Given the description of an element on the screen output the (x, y) to click on. 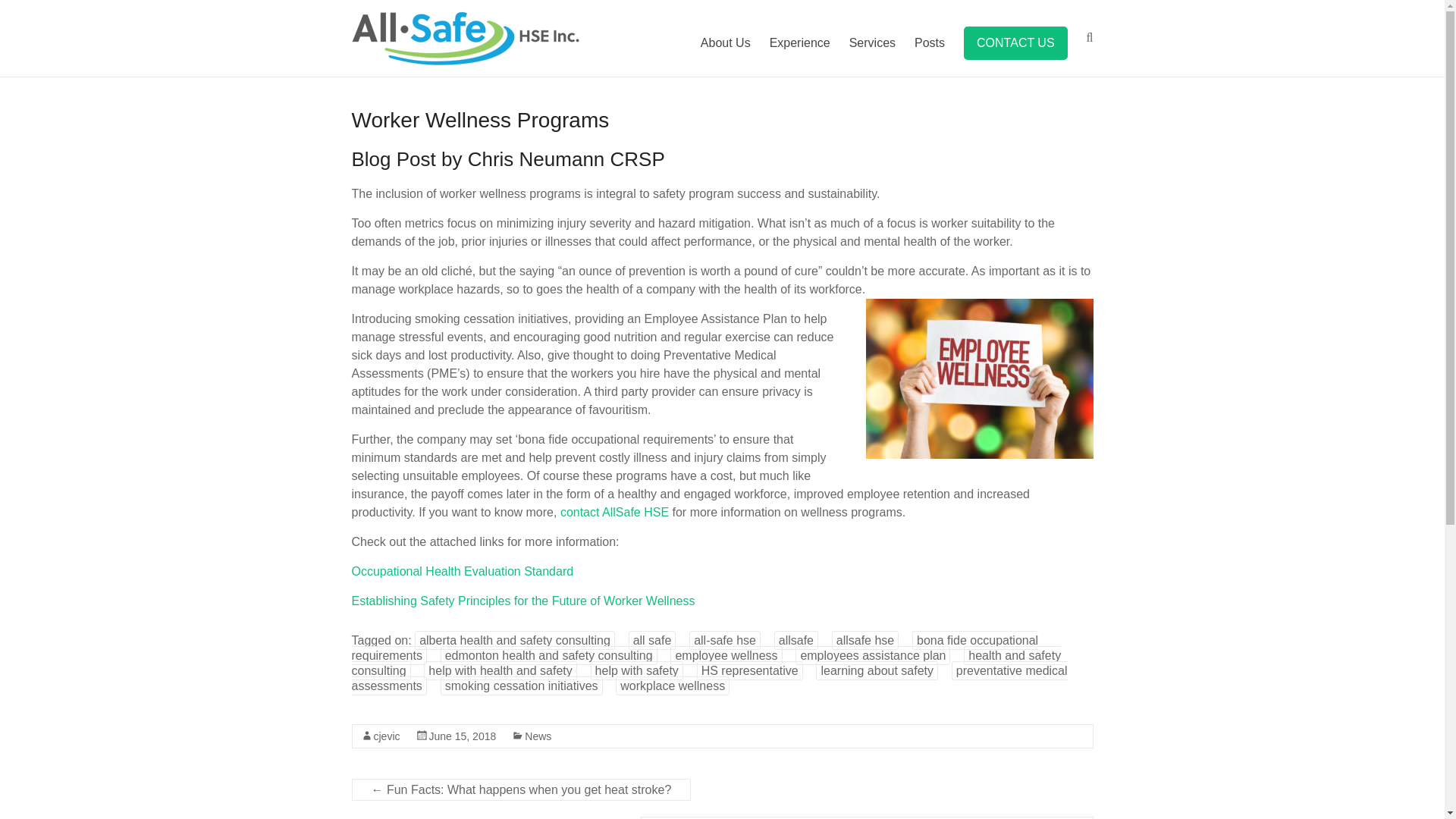
Posts (929, 42)
cjevic (385, 736)
6:01 pm (462, 736)
allsafe hse (865, 640)
all safe (652, 640)
allsafe (796, 640)
alberta health and safety consulting (514, 640)
bona fide occupational requirements (695, 647)
Occupational Health Evaluation Standard (462, 571)
CONTACT US (1015, 42)
contact AllSafe HSE (614, 512)
employees assistance plan (872, 655)
smoking cessation initiatives (521, 685)
help with safety (636, 670)
